Given the description of an element on the screen output the (x, y) to click on. 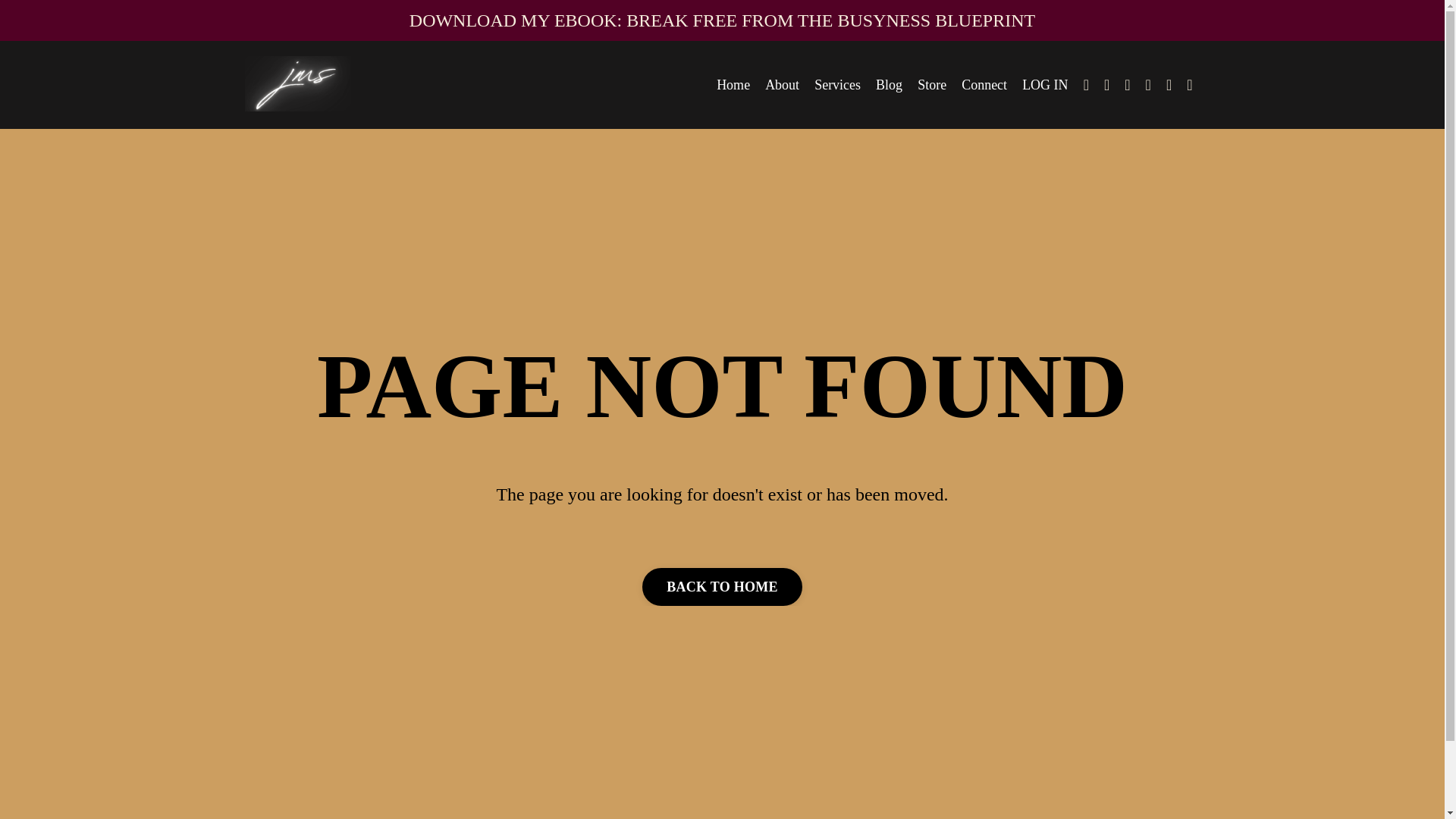
About (782, 85)
LOG IN (1045, 84)
Home (732, 85)
Blog (889, 85)
Services (836, 85)
BACK TO HOME (722, 587)
Store (931, 85)
Connect (983, 85)
